Given the description of an element on the screen output the (x, y) to click on. 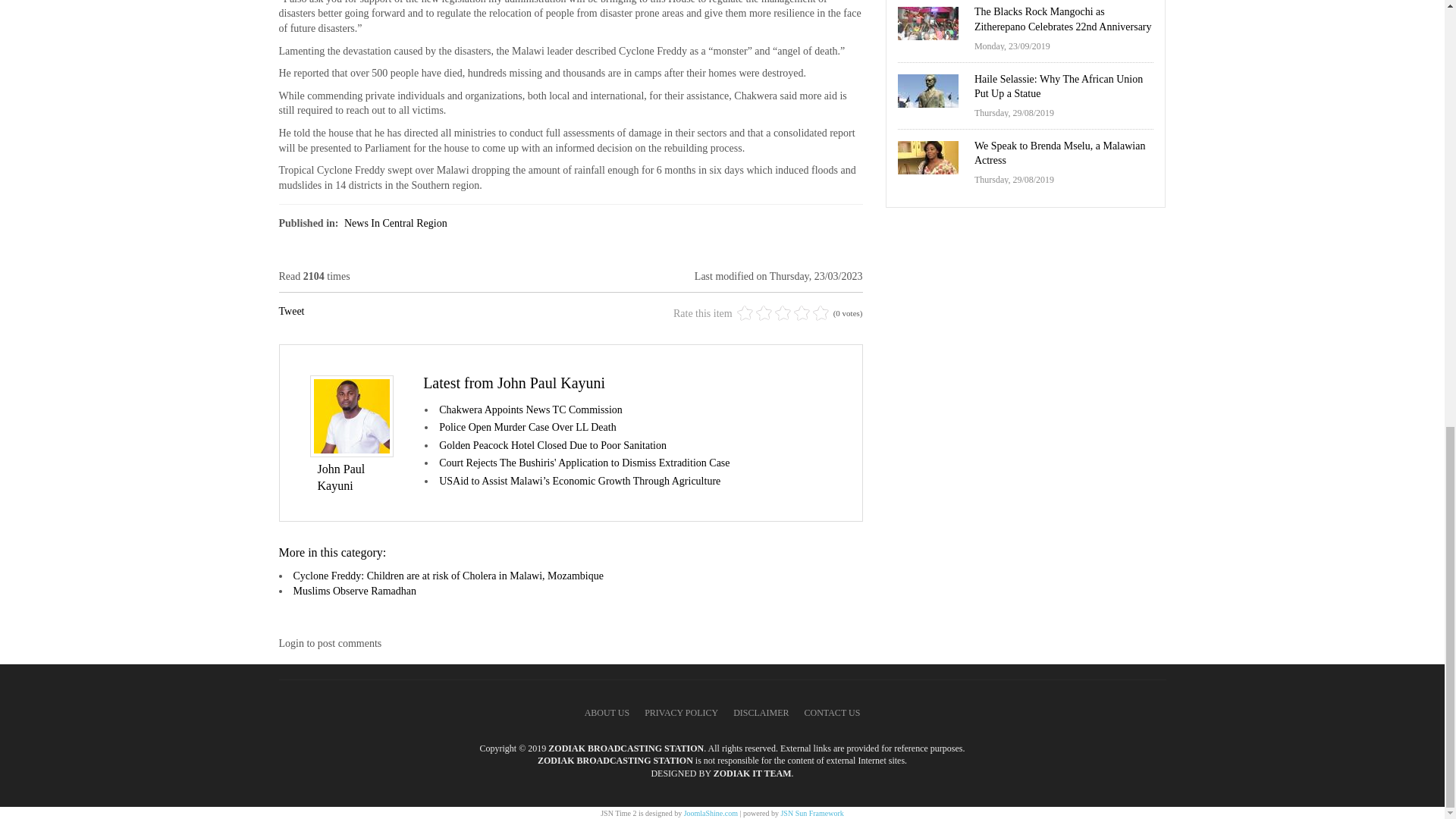
1 star out of 5 (744, 312)
JSN Sun Framework is the best Joomla template framework (811, 813)
2 (754, 312)
3 stars out of 5 (763, 312)
4 (772, 312)
Chakwera Appoints News TC Commission (531, 409)
5 (782, 312)
4 stars out of 5 (772, 312)
1 (744, 312)
